Given the description of an element on the screen output the (x, y) to click on. 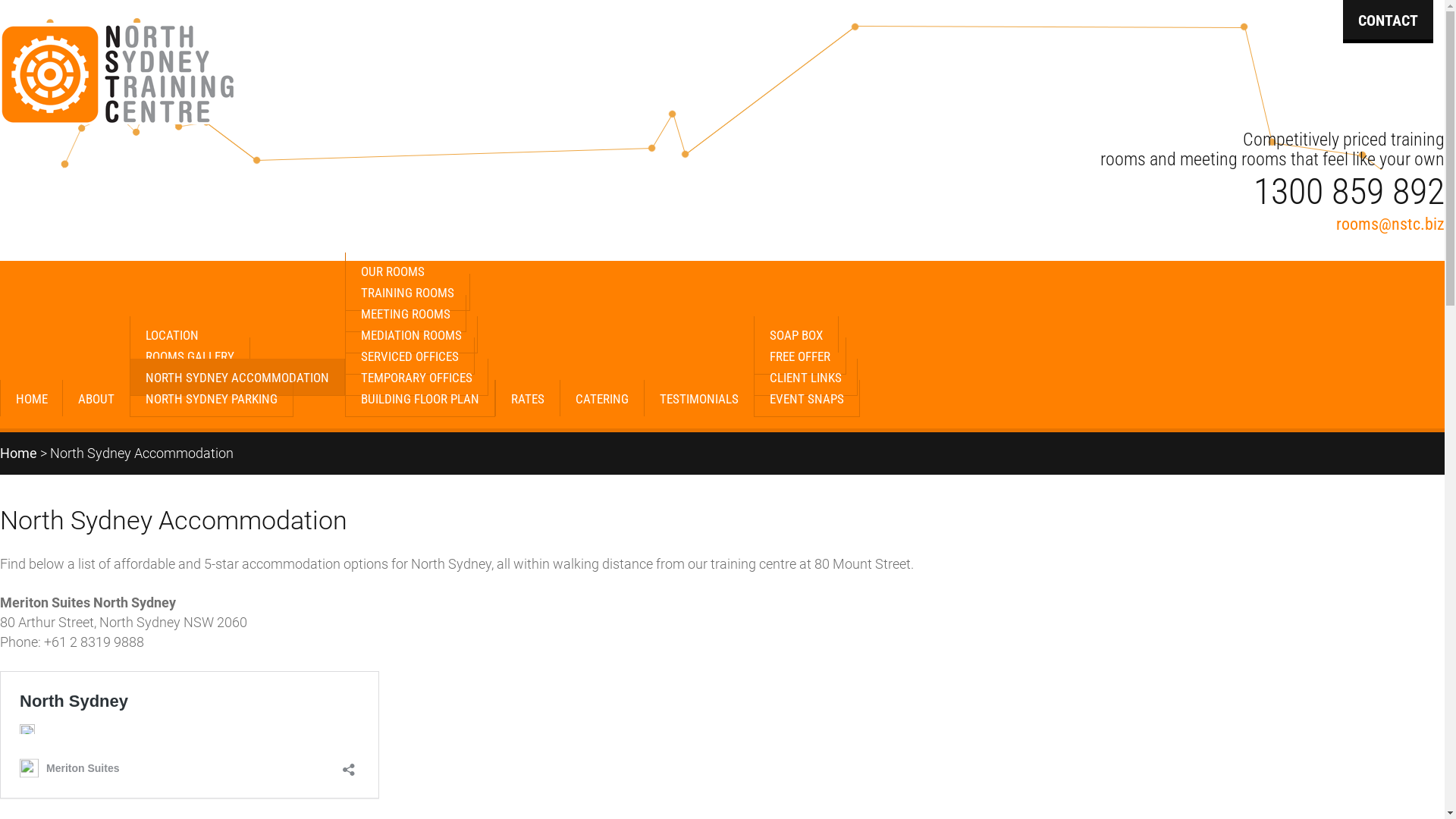
MEETING ROOMS Element type: text (405, 313)
CONTACT Element type: text (1388, 21)
SOAP BOX Element type: text (795, 334)
ABOUT Element type: text (95, 397)
CLIENT LINKS Element type: text (805, 376)
BUILDING FLOOR PLAN Element type: text (420, 398)
HOME Element type: text (31, 397)
MEDIATION ROOMS Element type: text (411, 334)
FREE OFFER Element type: text (799, 355)
NORTH SYDNEY ACCOMMODATION Element type: text (237, 376)
LOCATION Element type: text (171, 334)
OUR ROOMS Element type: text (392, 270)
TEMPORARY OFFICES Element type: text (416, 376)
ROOMS GALLERY Element type: text (189, 355)
RATES Element type: text (527, 397)
rooms@nstc.biz Element type: text (1390, 223)
NORTH SYDNEY PARKING Element type: text (211, 398)
TESTIMONIALS Element type: text (698, 397)
TRAINING ROOMS Element type: text (407, 291)
1300 859 892 Element type: text (1348, 191)
EVENT SNAPS Element type: text (806, 398)
Home Element type: text (18, 453)
SERVICED OFFICES Element type: text (409, 355)
CATERING Element type: text (601, 397)
